Given the description of an element on the screen output the (x, y) to click on. 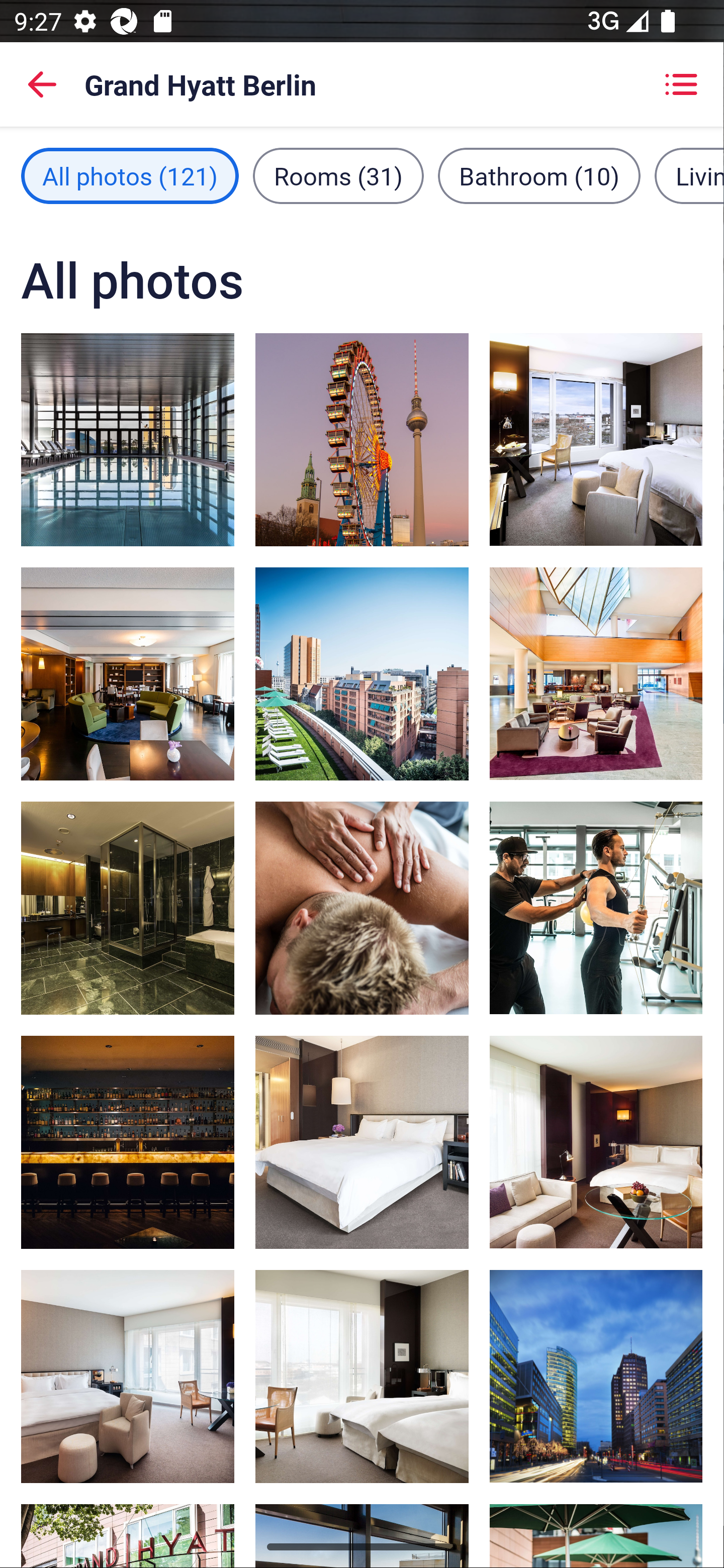
Back (42, 84)
Showing grid view (681, 84)
All photos filter, 121 images (129, 175)
Rooms filter, 31 images (337, 175)
Bathroom filter, 10 images (539, 175)
Living area filter, 12 images (688, 175)
Indoor pool, image (127, 438)
Point of interest, image (361, 438)
Bar (on property), image (127, 673)
Lobby, image (595, 673)
Fitness facility, image (595, 907)
Bar (on property), image (127, 1142)
Exterior, image (595, 1376)
